Given the description of an element on the screen output the (x, y) to click on. 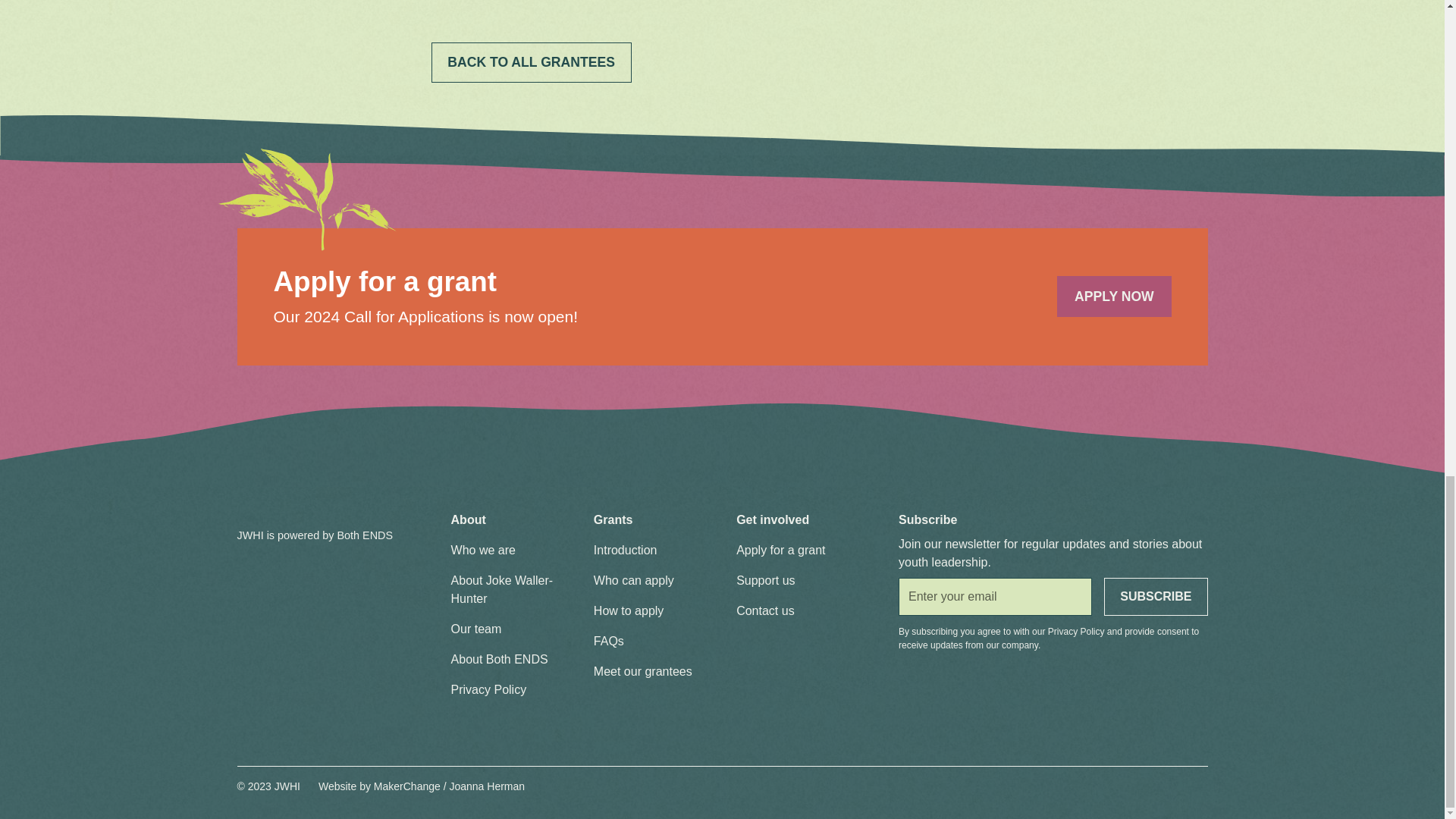
FAQs (609, 641)
APPLY NOW (1113, 296)
Joanna Herman (486, 786)
BACK TO ALL GRANTEES (530, 61)
Apply for a grant (780, 550)
Contact us (764, 611)
About Both ENDS (499, 659)
Our team (476, 629)
Privacy Policy (489, 689)
Privacy Policy (1076, 631)
